Given the description of an element on the screen output the (x, y) to click on. 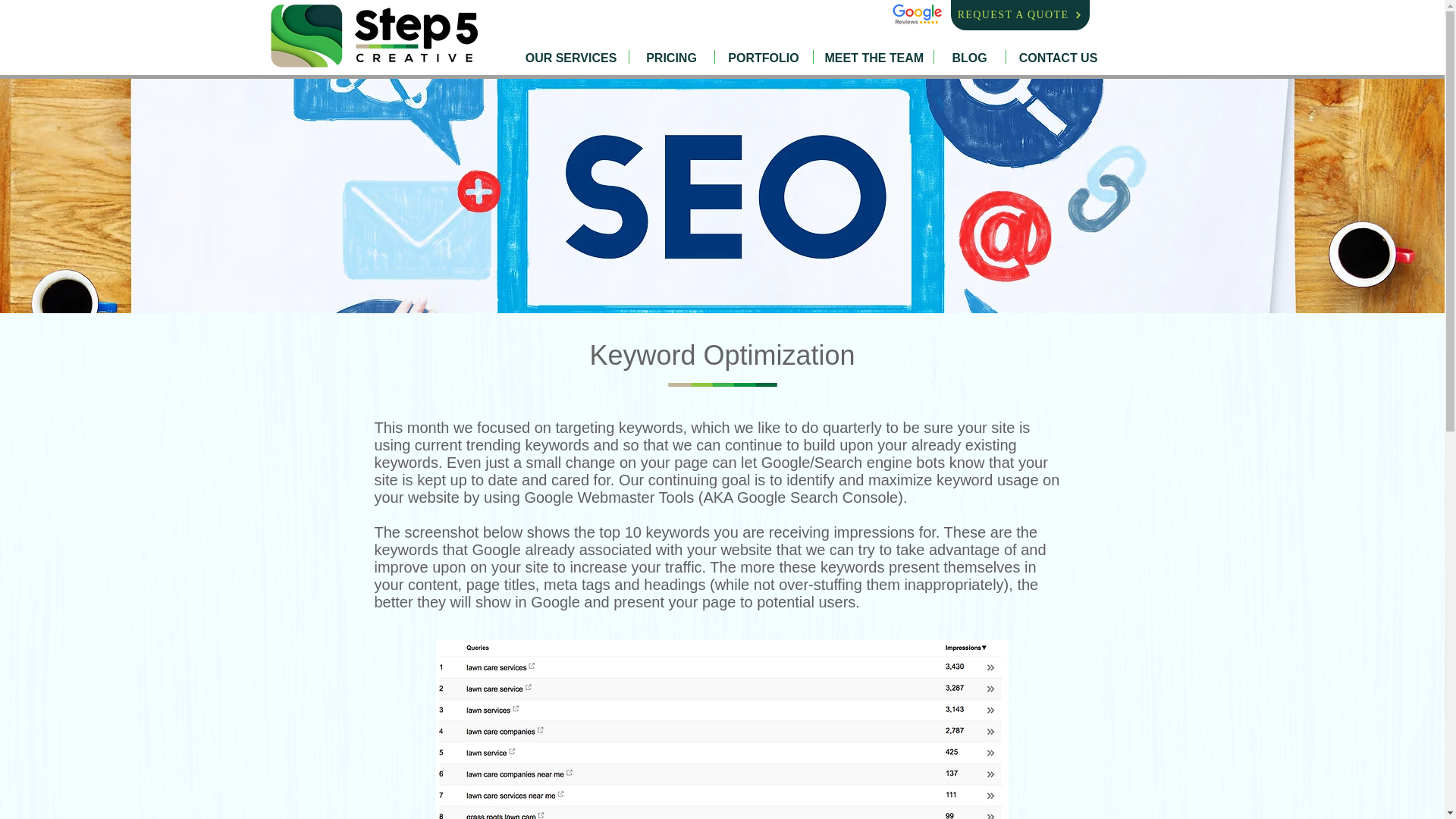
PORTFOLIO (763, 56)
OUR SERVICES (570, 56)
MEET THE TEAM (872, 56)
PRICING (671, 56)
CONTACT US (1057, 56)
BLOG (970, 56)
step5.png (373, 37)
REQUEST A QUOTE (1019, 15)
